Given the description of an element on the screen output the (x, y) to click on. 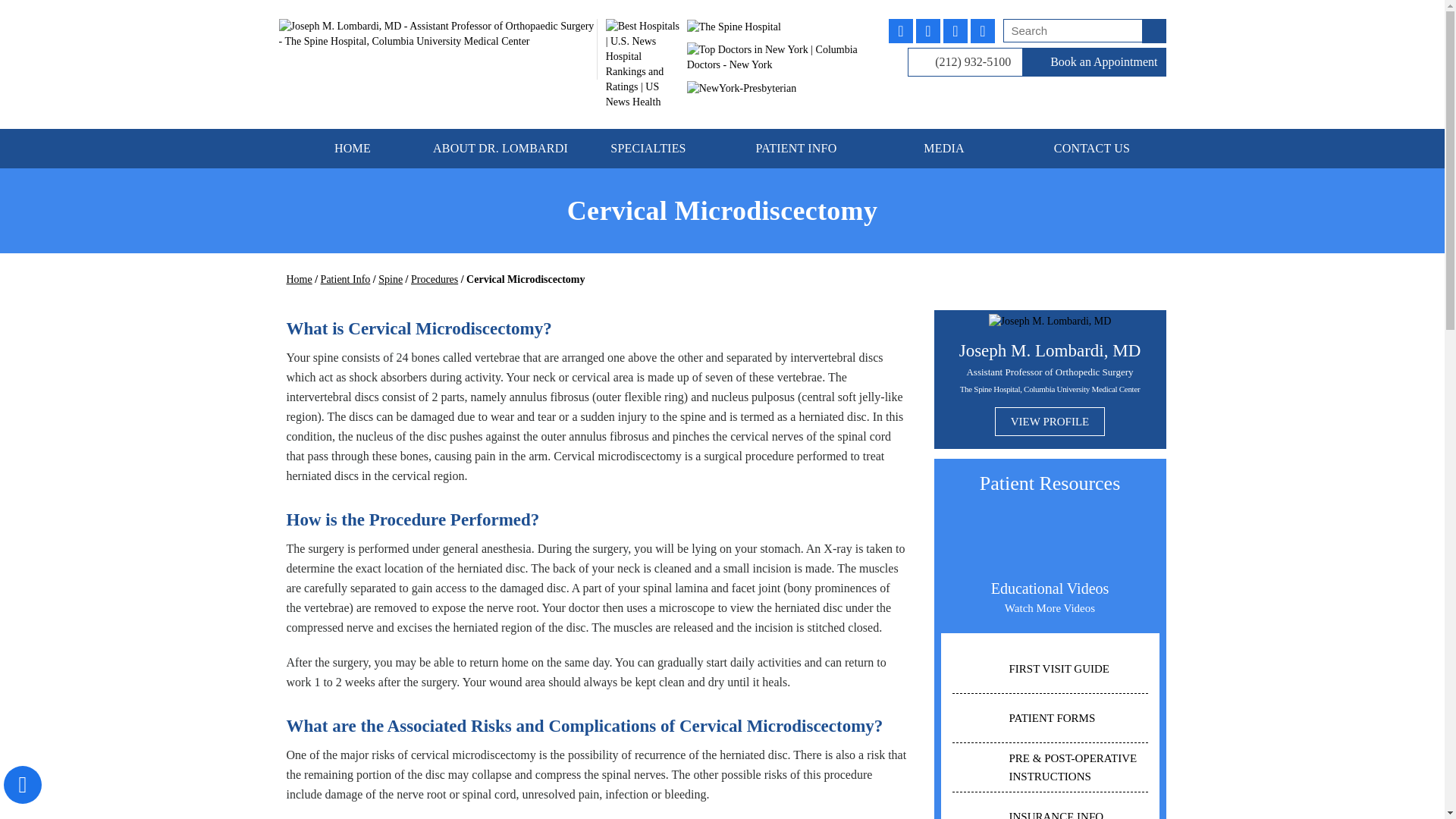
HOME (352, 148)
Book an Appointment (1094, 61)
Submit (1153, 31)
Accessible Tool Options (23, 784)
Search (1084, 30)
Submit (1153, 31)
Submit (1153, 31)
SPECIALTIES (648, 148)
ABOUT DR. LOMBARDI (499, 148)
PATIENT INFO (795, 148)
